Given the description of an element on the screen output the (x, y) to click on. 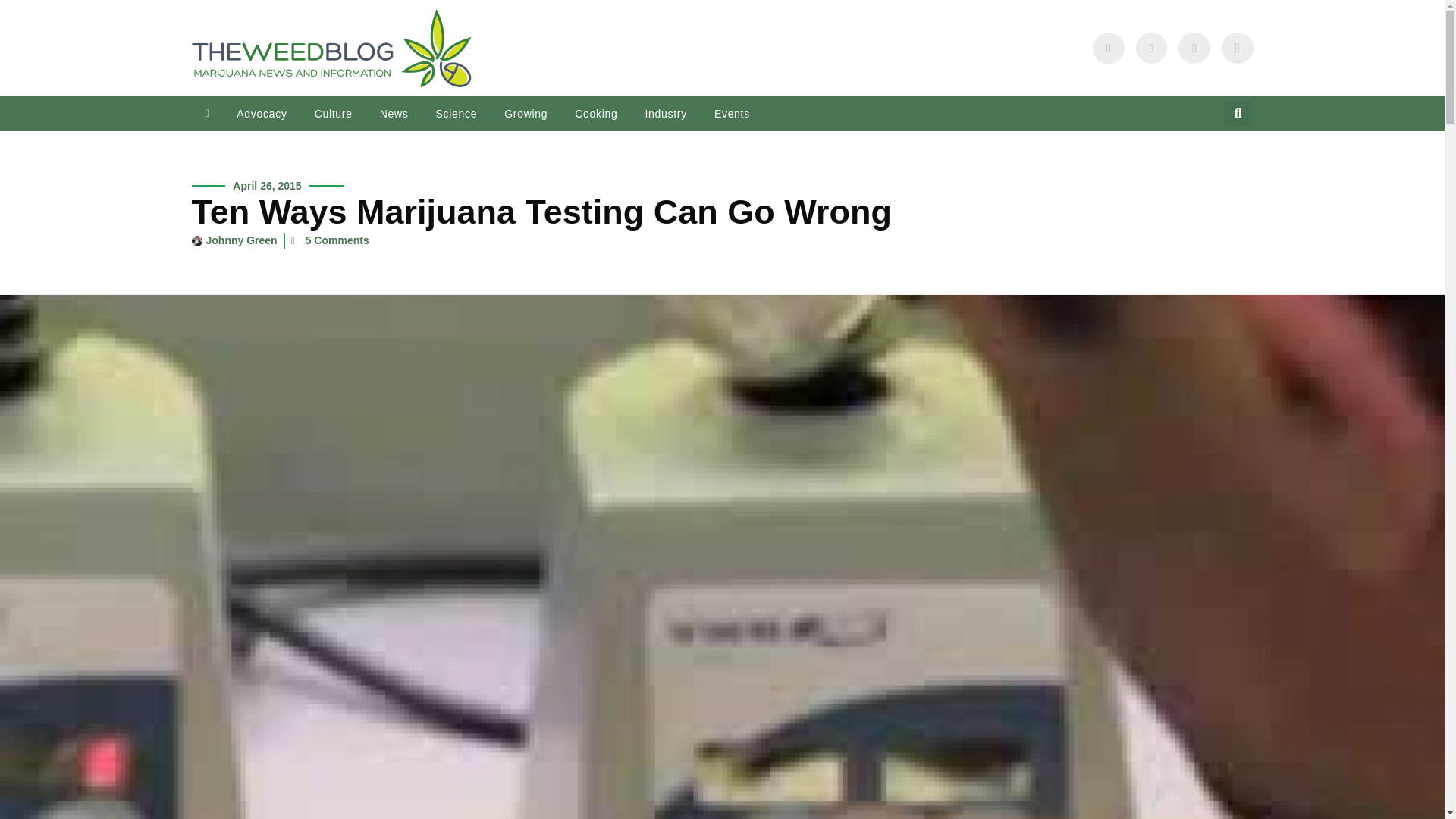
Johnny Green (233, 240)
Culture (333, 113)
Industry (665, 113)
Cooking (595, 113)
Growing (525, 113)
Advocacy (260, 113)
News (394, 113)
Science (456, 113)
Events (731, 113)
5 Comments (330, 240)
